Given the description of an element on the screen output the (x, y) to click on. 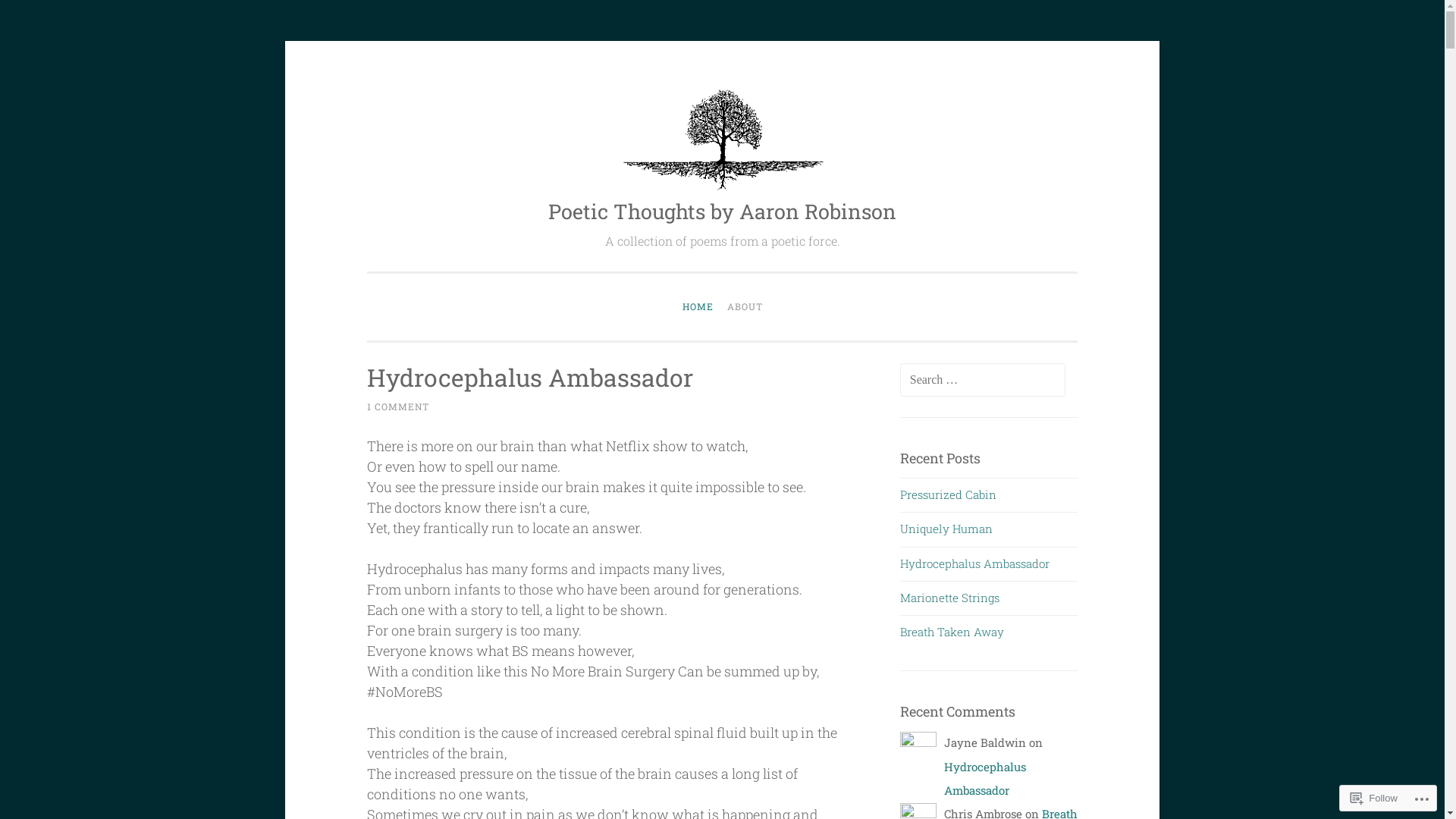
HOME Element type: text (696, 306)
Hydrocephalus Ambassador Element type: text (974, 563)
ABOUT Element type: text (744, 306)
Pressurized Cabin Element type: text (948, 494)
Uniquely Human Element type: text (946, 528)
Marionette Strings Element type: text (949, 597)
Breath Taken Away Element type: text (952, 631)
Hydrocephalus Ambassador Element type: text (985, 778)
1 COMMENT Element type: text (398, 406)
Poetic Thoughts by Aaron Robinson Element type: text (722, 210)
Search Element type: text (39, 17)
Hydrocephalus Ambassador Element type: text (530, 376)
Follow Element type: text (1373, 797)
Jayne Baldwin Element type: hover (918, 766)
